Given the description of an element on the screen output the (x, y) to click on. 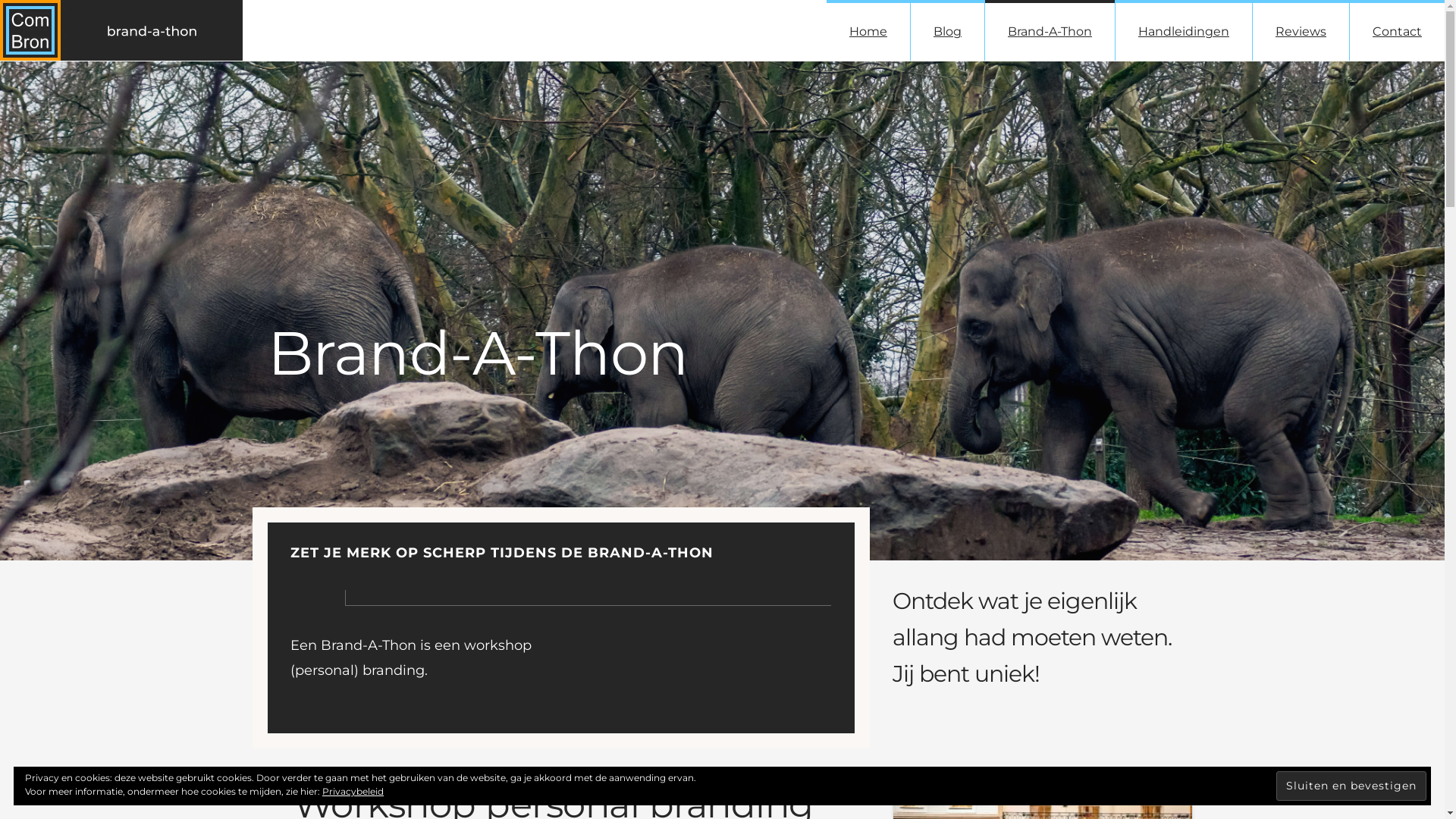
REVIEWS Element type: text (576, 775)
Brand-A-Thon Element type: text (1049, 30)
Handleidingen Element type: text (1183, 30)
HOW-TO DAVINCI RESOLVE Element type: text (502, 675)
Home Element type: text (868, 30)
Contact Element type: text (1396, 30)
ABONNEER DIRECT OP YOUTUBE Element type: text (747, 675)
Privacybeleid Element type: text (352, 791)
COLOFON Element type: text (402, 775)
Spring naar de hoofdnavigatie Element type: text (0, 0)
STUUR EEN E-MAIL Element type: text (966, 675)
ComBron Communicatie Element type: text (564, 732)
PRIVACYBELEID Element type: text (490, 775)
Blog Element type: text (947, 30)
Sluiten en bevestigen Element type: text (1351, 785)
OVER COMBRON Element type: text (312, 775)
Reviews Element type: text (1300, 30)
